Given the description of an element on the screen output the (x, y) to click on. 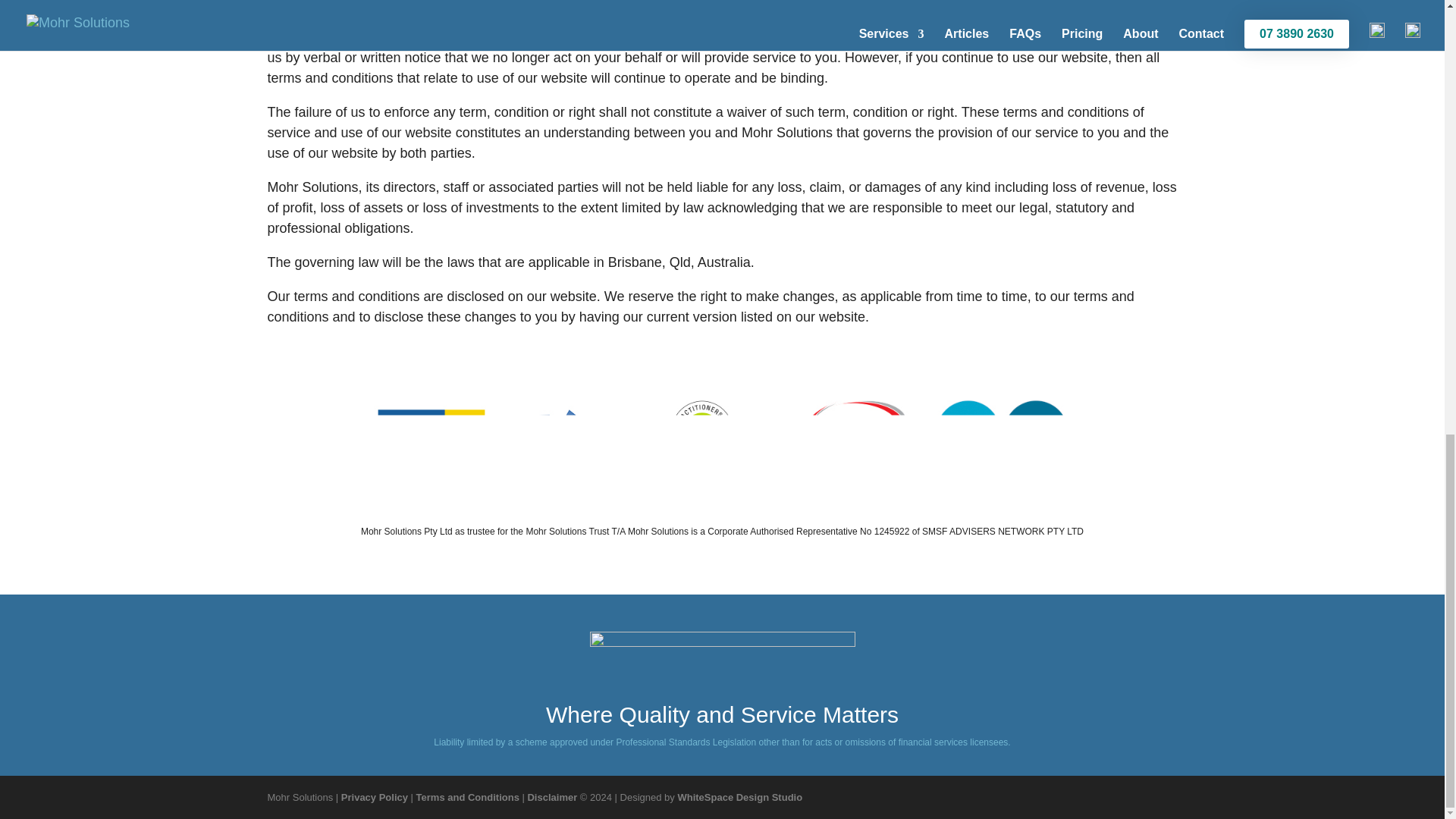
WhiteSpace Design Studio (739, 797)
Terms and Conditions (467, 797)
Privacy Policy (373, 797)
Disclaimer (551, 797)
